Given the description of an element on the screen output the (x, y) to click on. 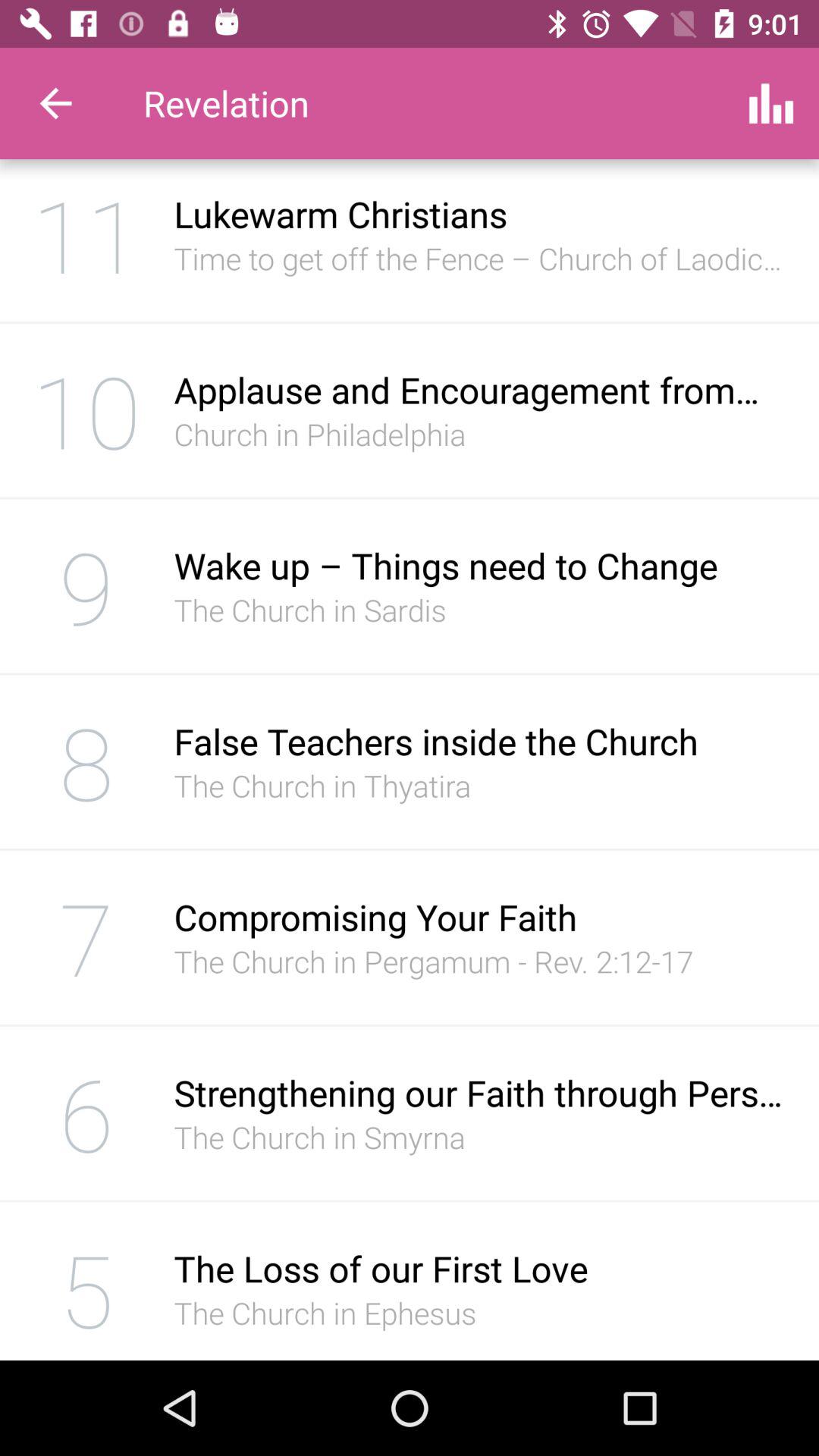
select the icon below lukewarm christians item (480, 258)
